Given the description of an element on the screen output the (x, y) to click on. 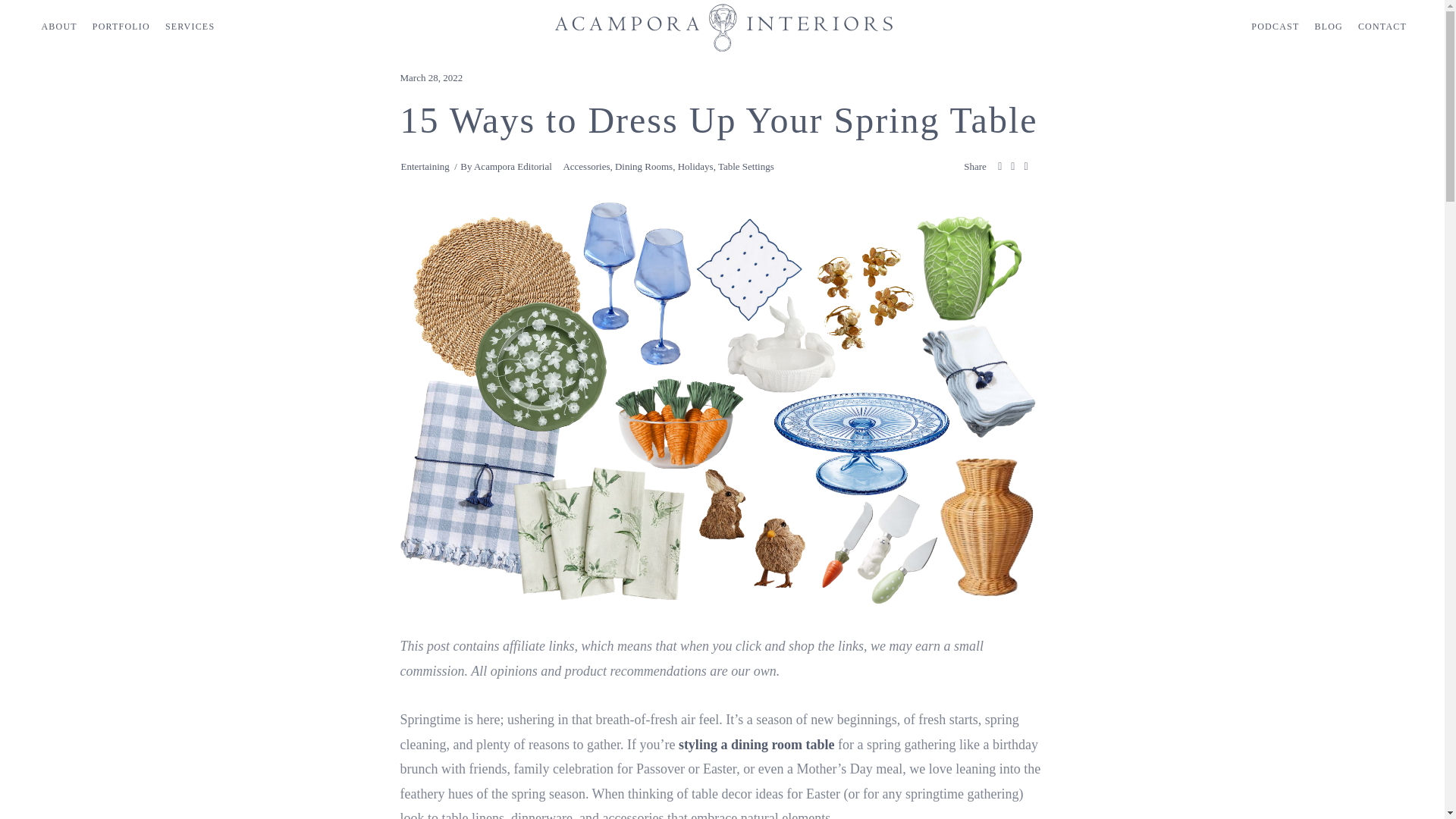
March 28, 2022 (431, 77)
PODCAST (1274, 26)
Acampora Editorial (512, 165)
Entertaining (424, 165)
SERVICES (189, 26)
PORTFOLIO (120, 26)
ABOUT (58, 26)
CONTACT (1382, 26)
Accessories (586, 165)
